Given the description of an element on the screen output the (x, y) to click on. 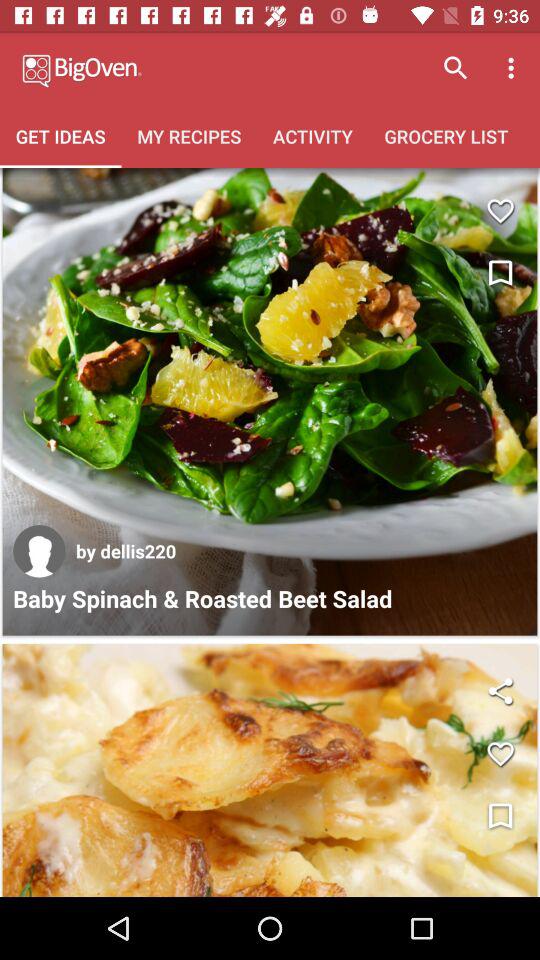
share the article (500, 690)
